Given the description of an element on the screen output the (x, y) to click on. 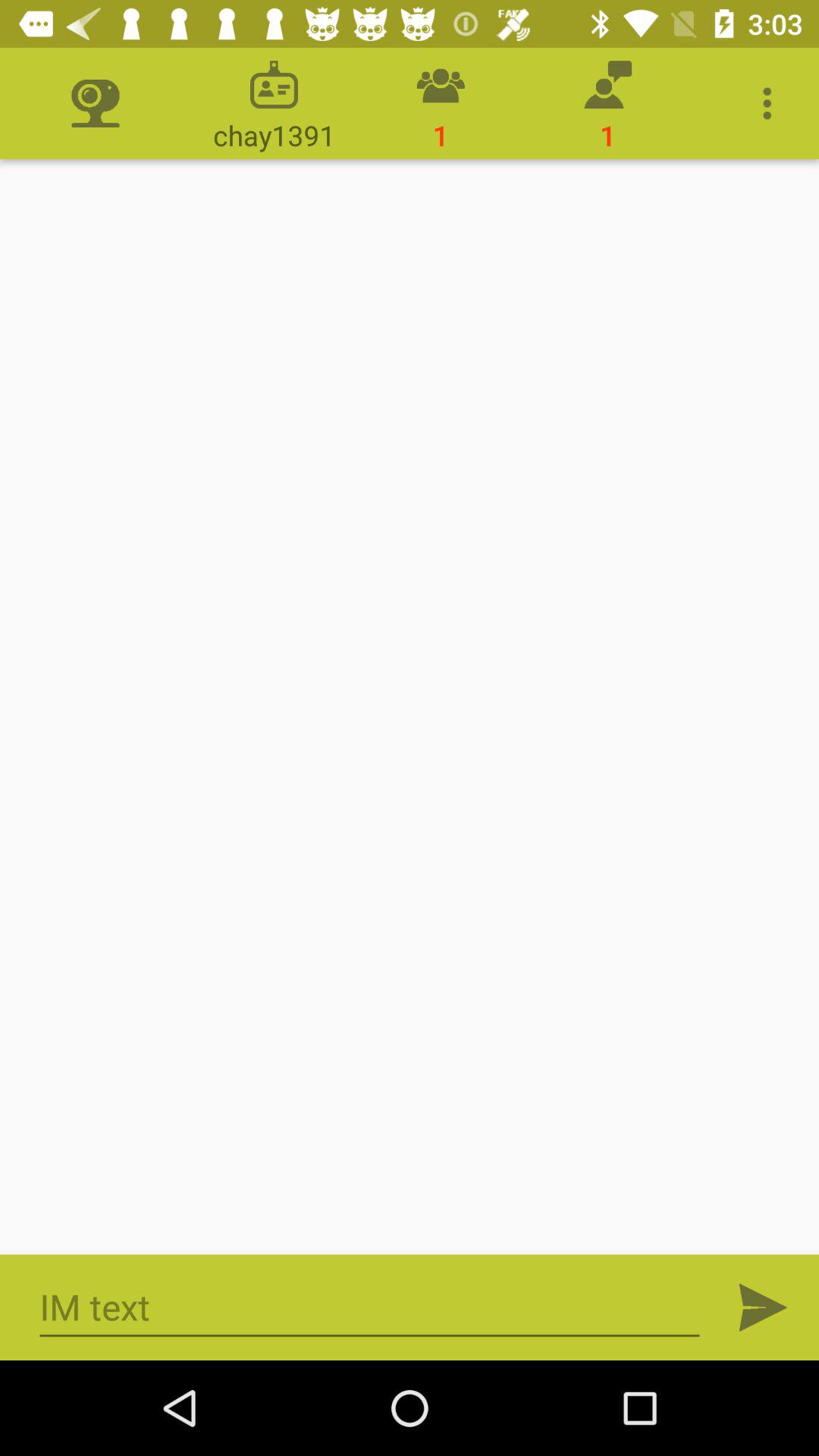
go to write (369, 1307)
